Given the description of an element on the screen output the (x, y) to click on. 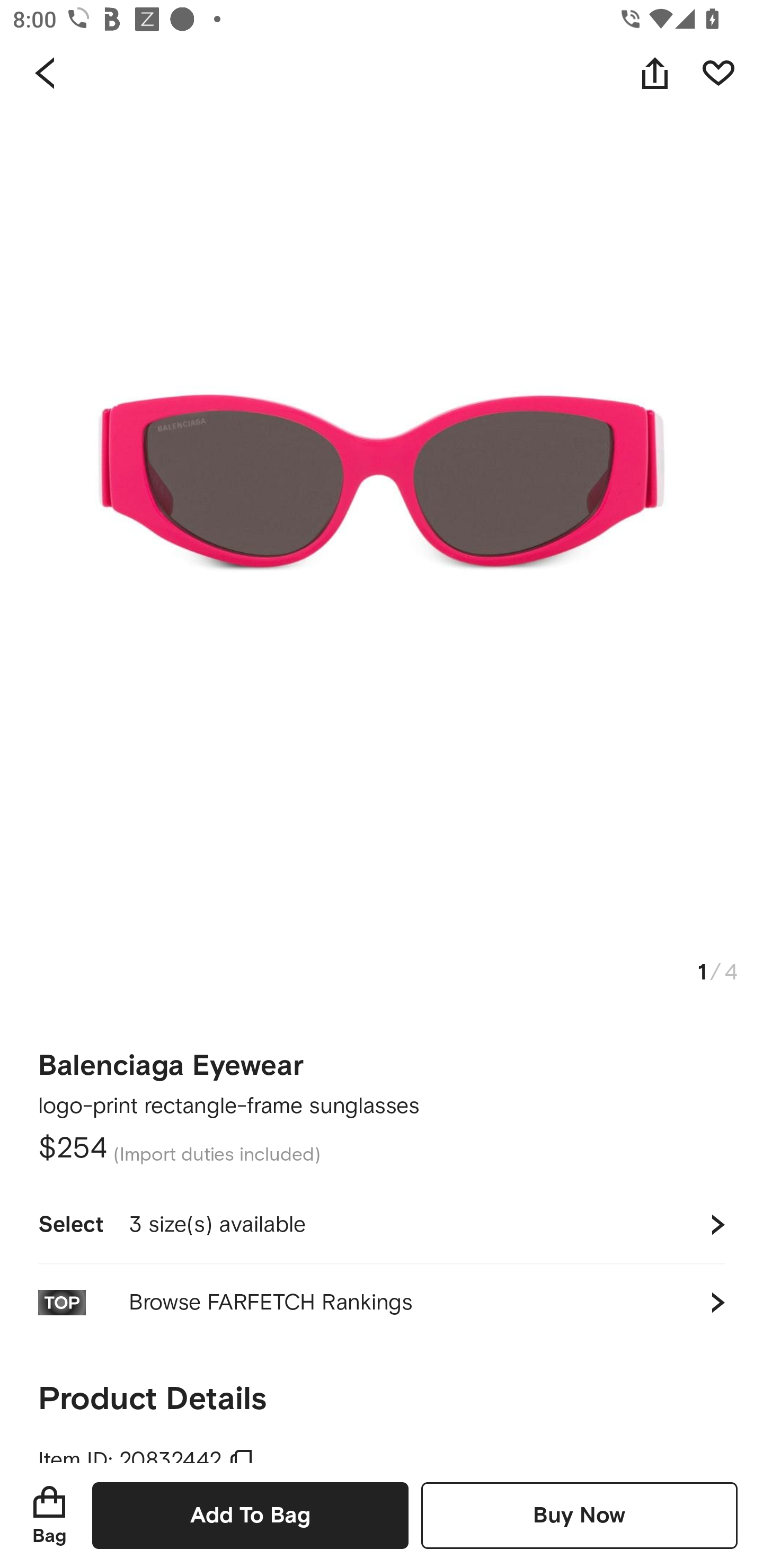
Balenciaga Eyewear (170, 1059)
Select 3 size(s) available (381, 1224)
Browse FARFETCH Rankings (381, 1301)
Bag (49, 1515)
Add To Bag (250, 1515)
Buy Now (579, 1515)
